Given the description of an element on the screen output the (x, y) to click on. 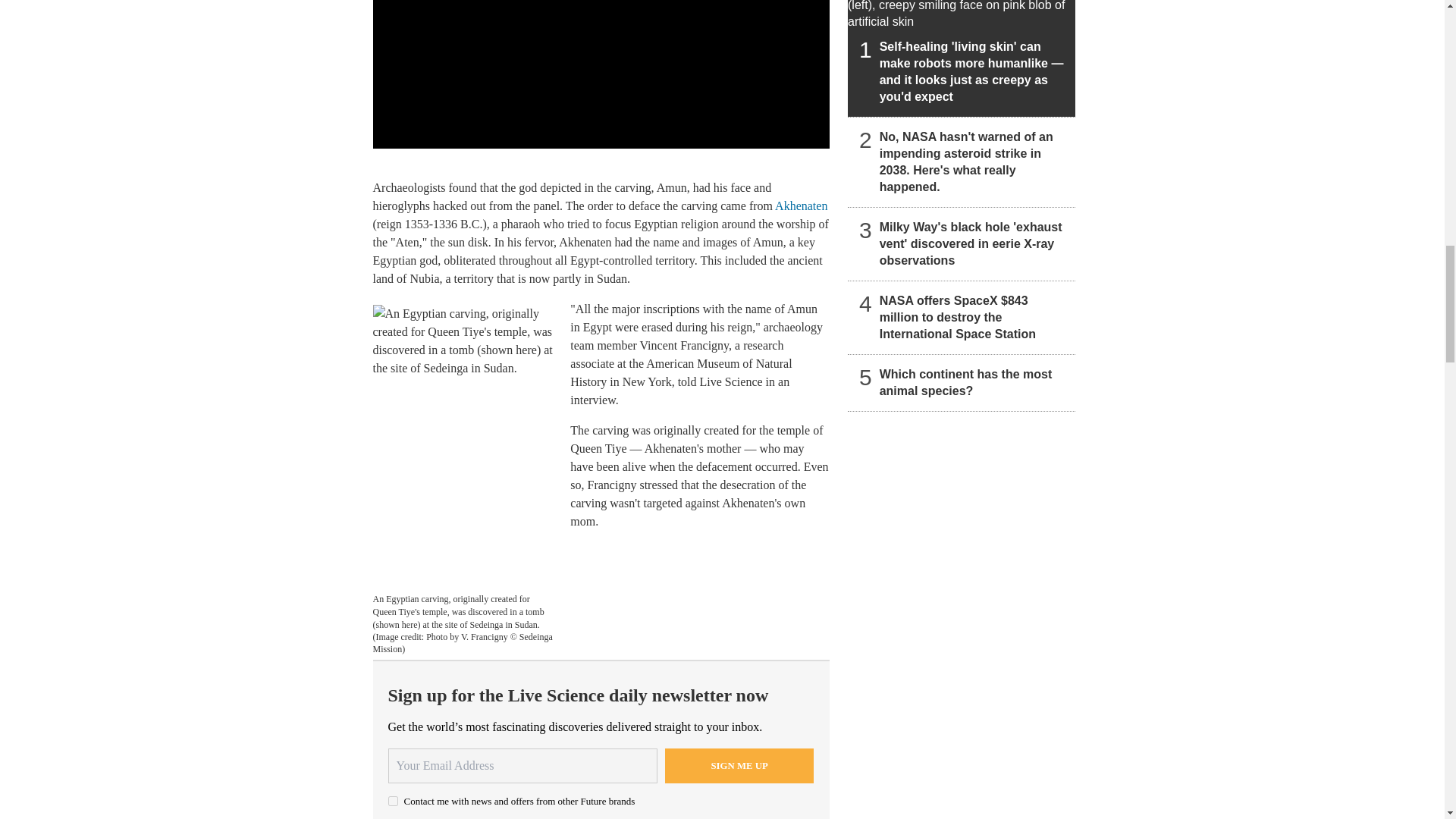
Sign me up (739, 765)
on (392, 800)
